Given the description of an element on the screen output the (x, y) to click on. 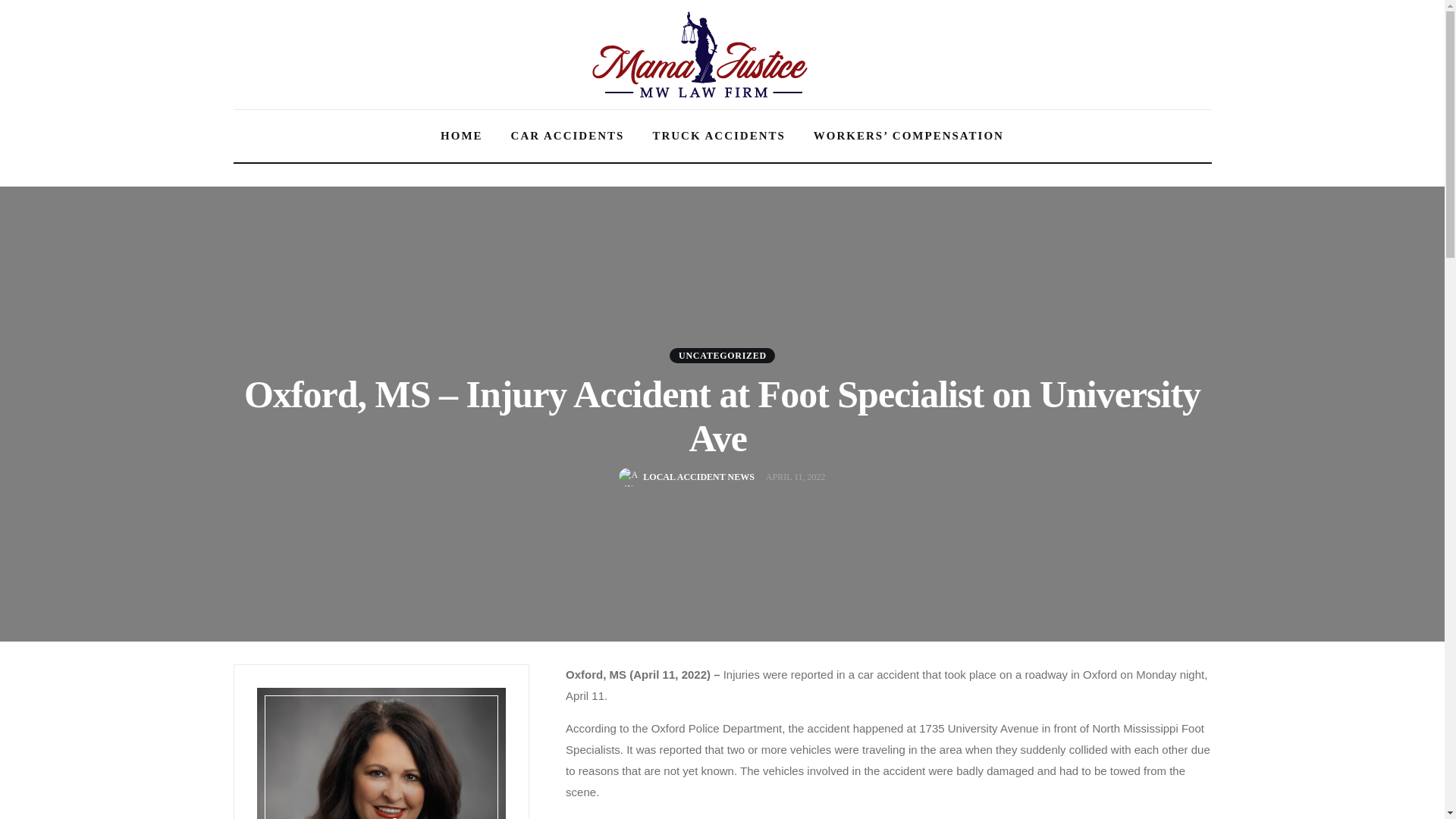
Gravatar for Local Accident News (627, 476)
UNCATEGORIZED (721, 354)
HOME (462, 135)
TRUCK ACCIDENTS (718, 135)
CAR ACCIDENTS (567, 135)
LOCAL ACCIDENT NEWS (686, 476)
